Given the description of an element on the screen output the (x, y) to click on. 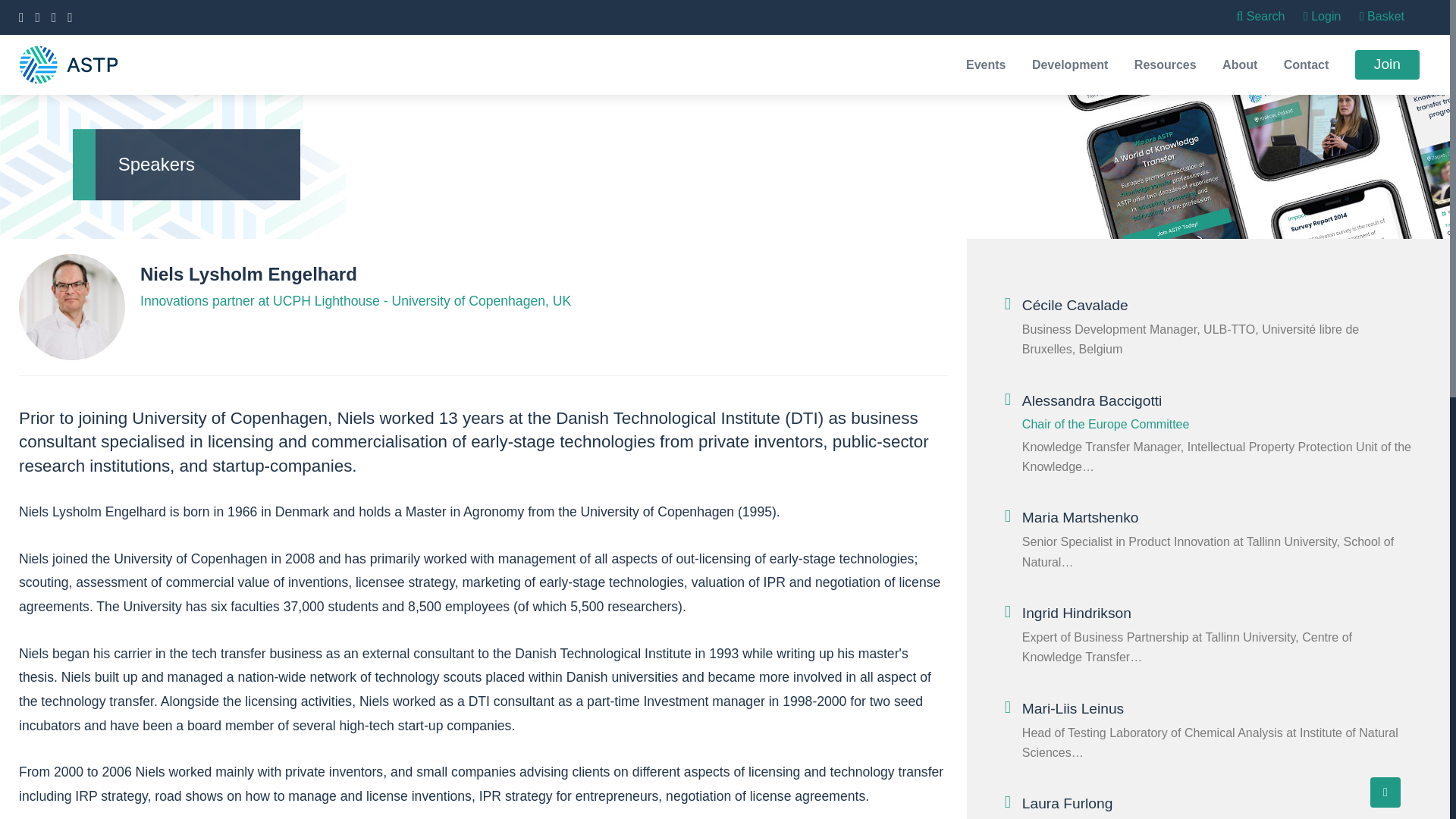
Search the site (1260, 15)
View your basket (1382, 15)
Log in (1321, 15)
Development (1070, 64)
